Given the description of an element on the screen output the (x, y) to click on. 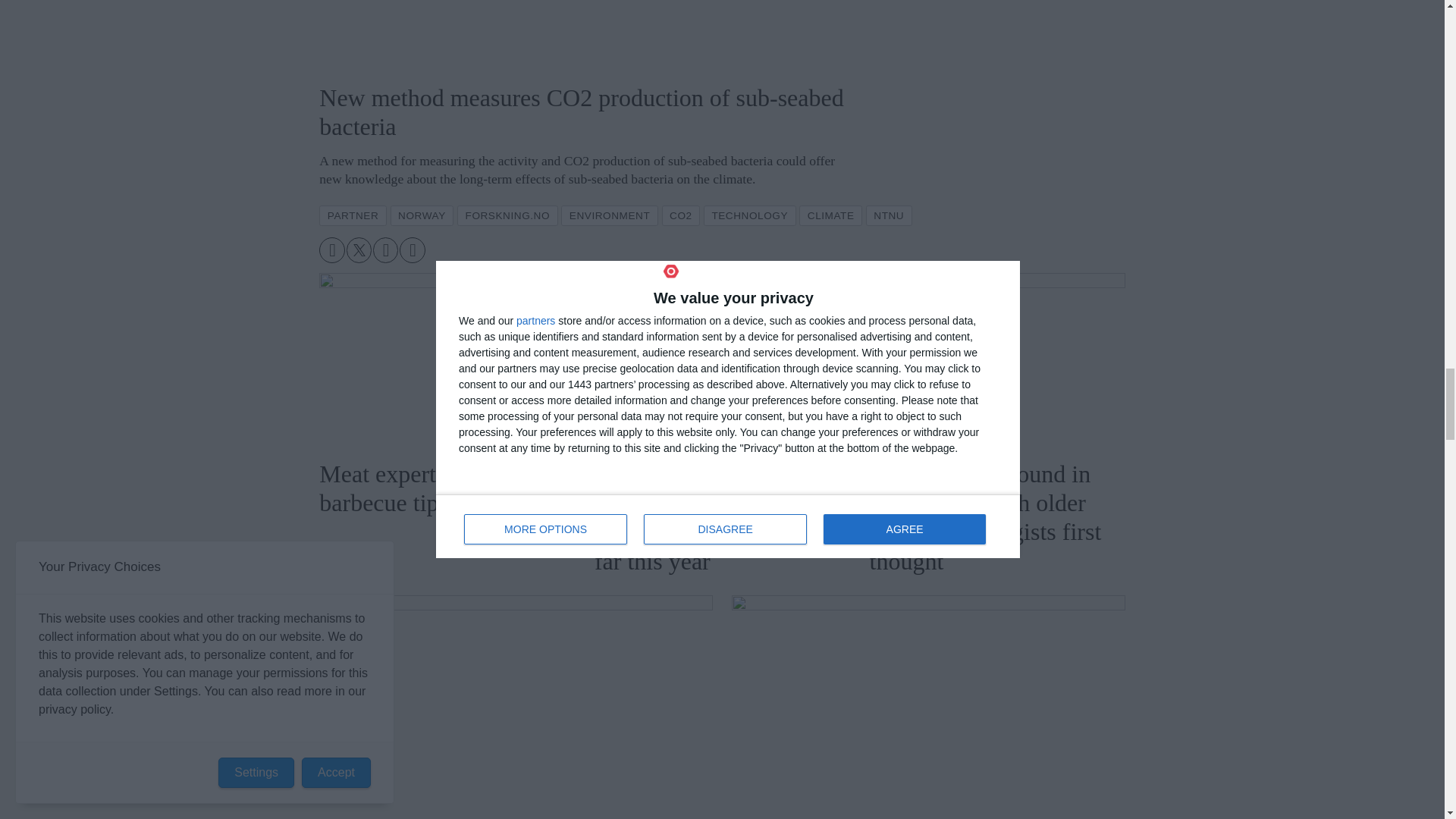
CLIMATE (830, 215)
New method measures CO2 production of sub-seabed bacteria (584, 35)
ENVIRONMENT (609, 215)
PARTNER (352, 215)
CO2 (681, 215)
NTNU (889, 215)
Meat expert's top 5 barbecue tips (446, 359)
NORWAY (422, 215)
FORSKNING.NO (507, 215)
TECHNOLOGY (749, 215)
